Given the description of an element on the screen output the (x, y) to click on. 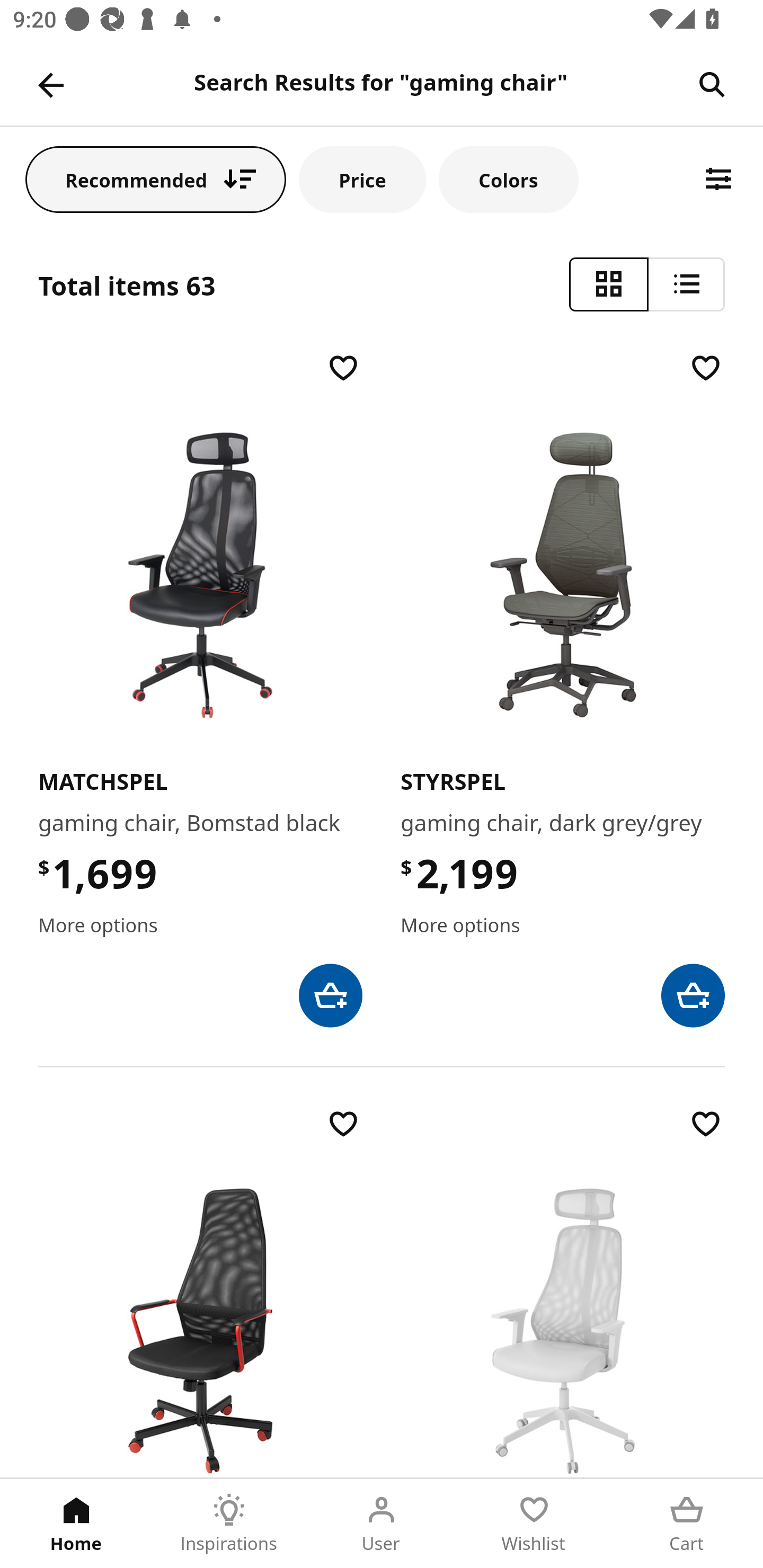
Recommended (155, 179)
Price (362, 179)
Colors (508, 179)
Home
Tab 1 of 5 (76, 1522)
Inspirations
Tab 2 of 5 (228, 1522)
User
Tab 3 of 5 (381, 1522)
Wishlist
Tab 4 of 5 (533, 1522)
Cart
Tab 5 of 5 (686, 1522)
